Given the description of an element on the screen output the (x, y) to click on. 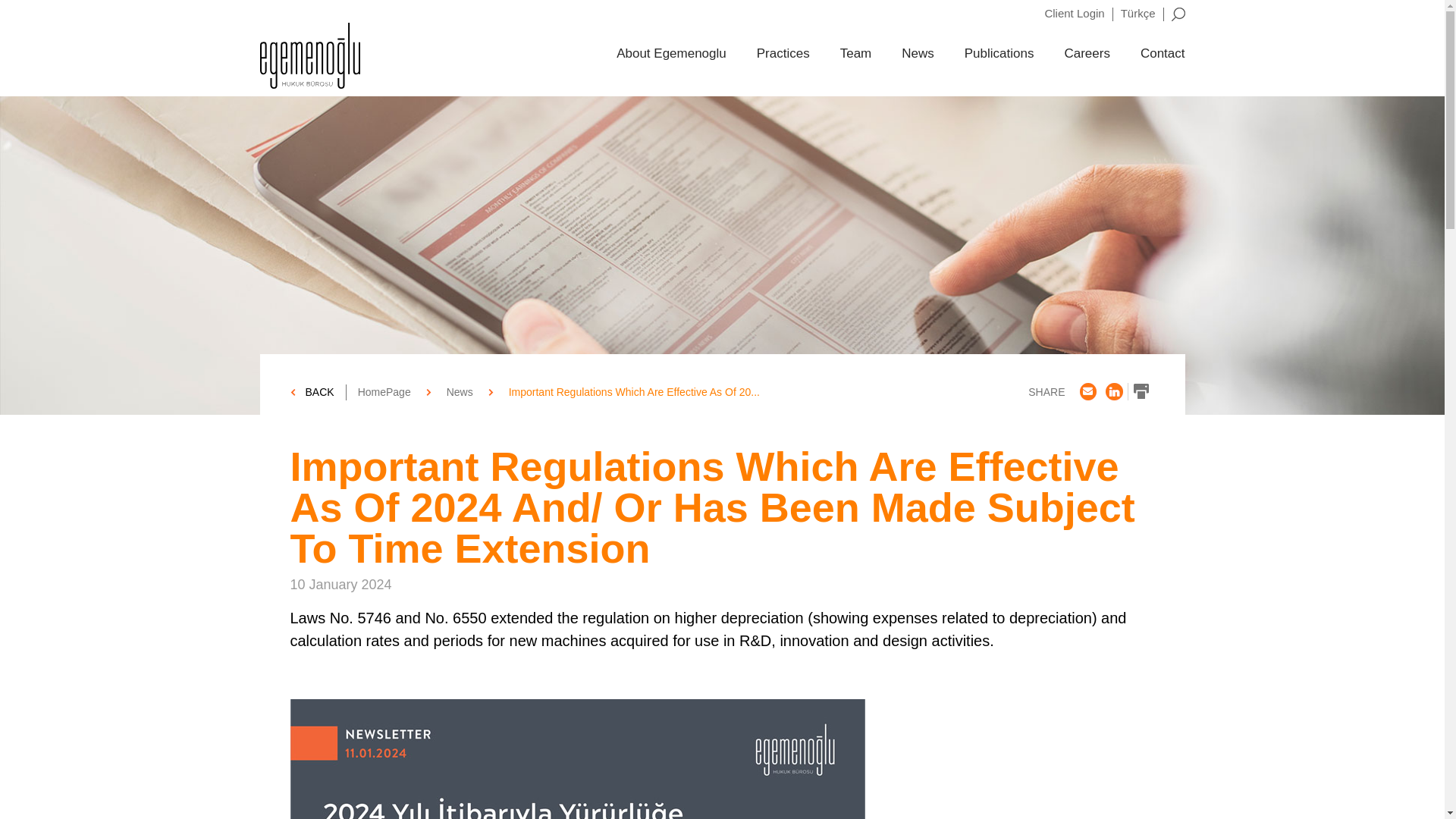
Practices (783, 53)
Team (856, 53)
HomePage (384, 391)
BACK (317, 392)
Contact (1162, 53)
Careers (1086, 53)
About Egemenoglu (670, 53)
News (459, 391)
Client Login (1074, 12)
Publications (998, 53)
